Given the description of an element on the screen output the (x, y) to click on. 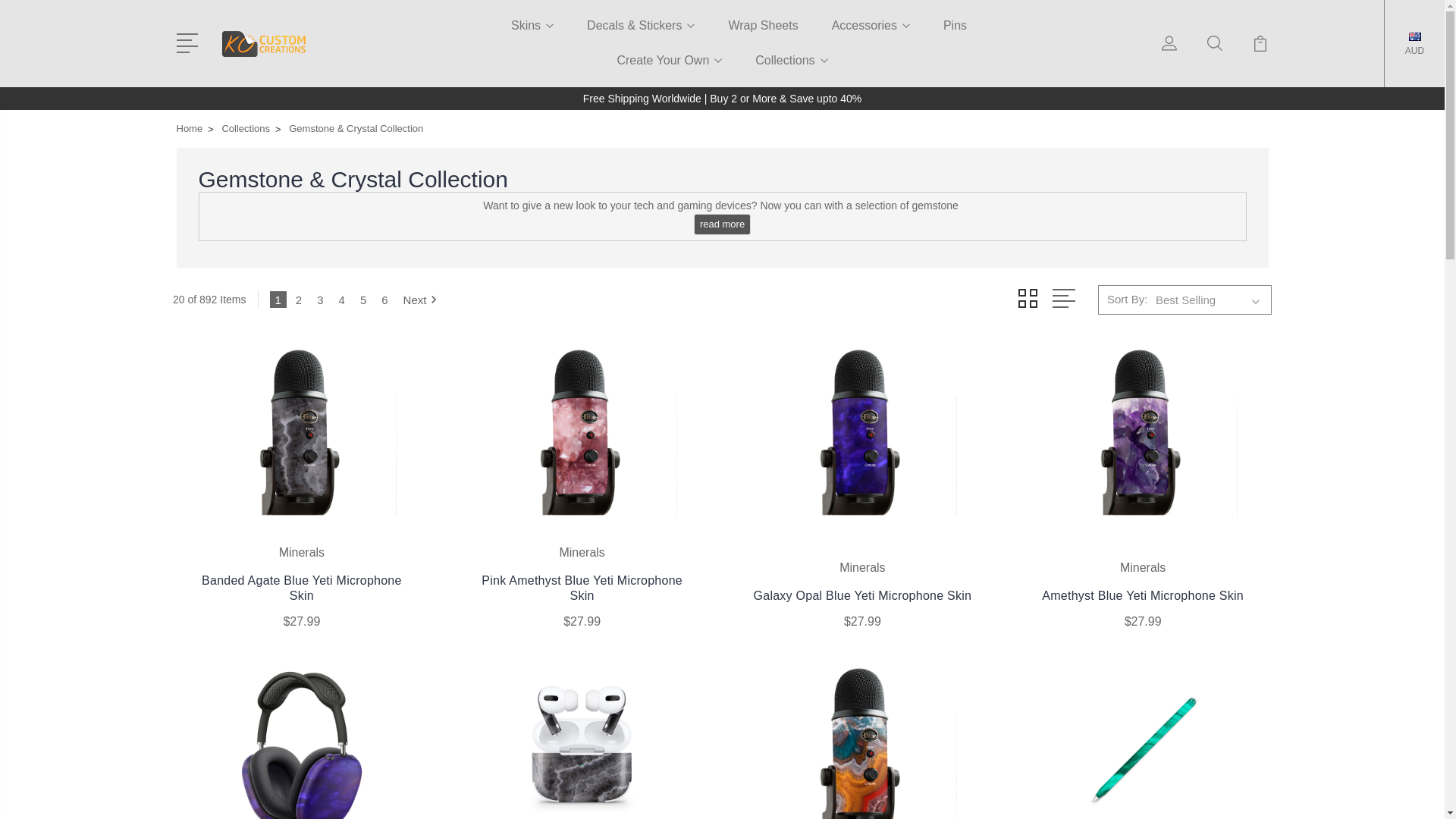
Wrap Sheets (762, 34)
Accessories (870, 34)
Skins (532, 34)
KO Custom Creations (262, 43)
